Given the description of an element on the screen output the (x, y) to click on. 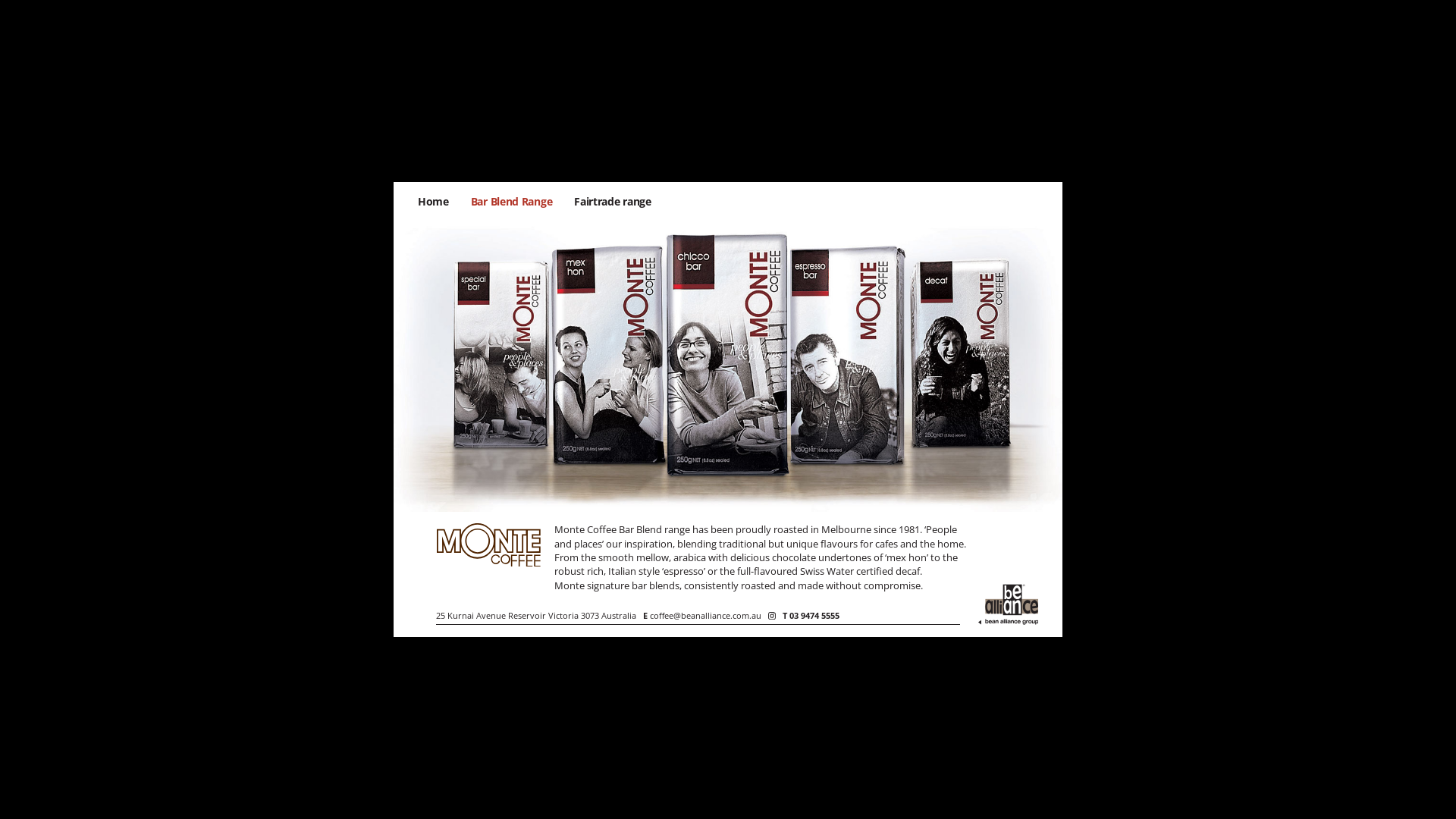
Fairtrade range Element type: text (612, 201)
coffee@beanalliance.com.au Element type: text (705, 615)
Home Element type: text (432, 201)
Bar Blend Range Element type: text (511, 201)
03 9474 5555 Element type: text (814, 615)
